Given the description of an element on the screen output the (x, y) to click on. 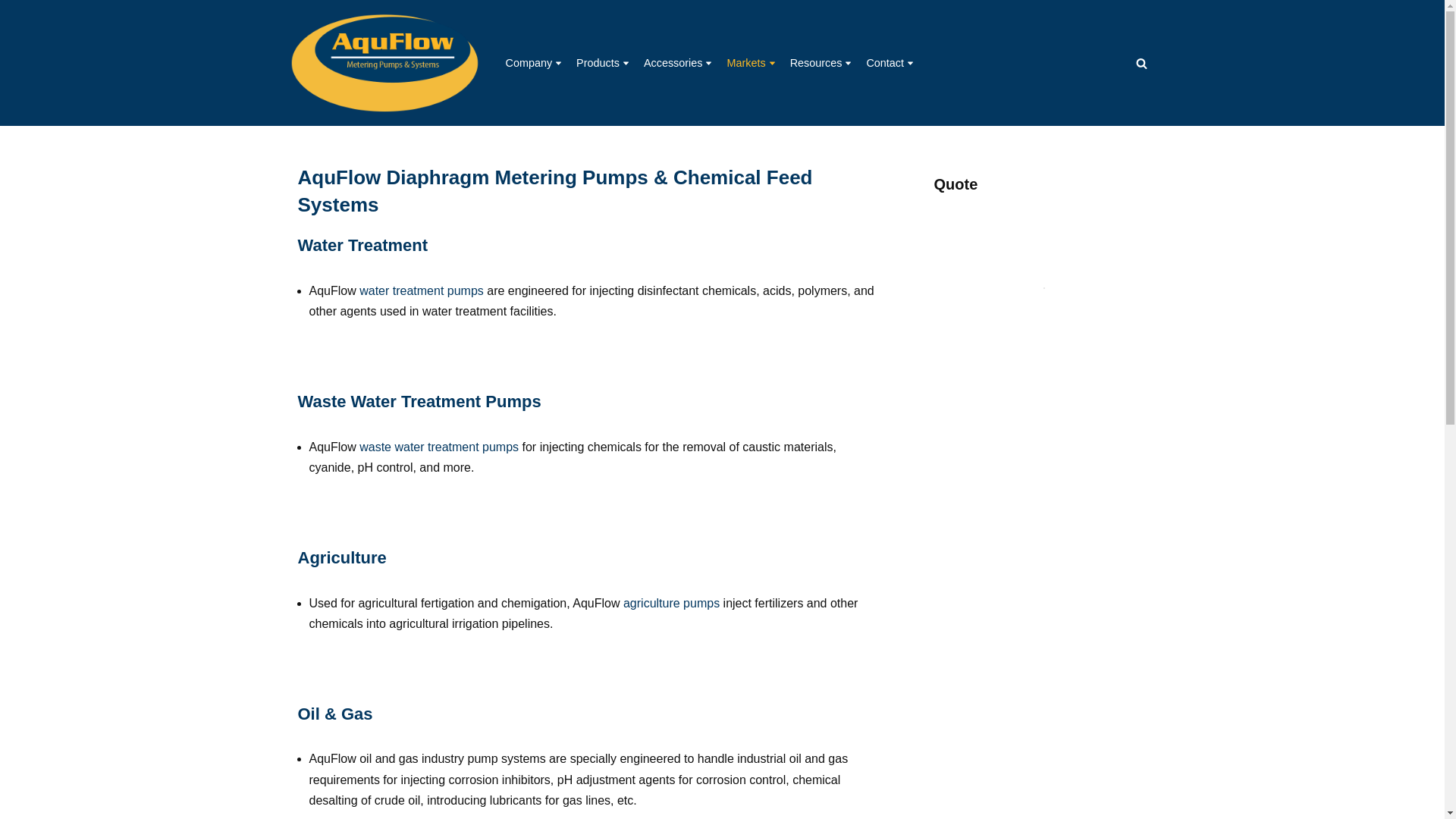
Company (528, 62)
Skip to content (11, 31)
Products (598, 62)
Markets (745, 62)
Waste Water Treatment (438, 446)
Water Treatment Pumps (362, 244)
Water Treatment Pumps (421, 290)
Accessories (673, 62)
Agriculture Pumps (341, 557)
Waste Water Treatment (418, 401)
